Given the description of an element on the screen output the (x, y) to click on. 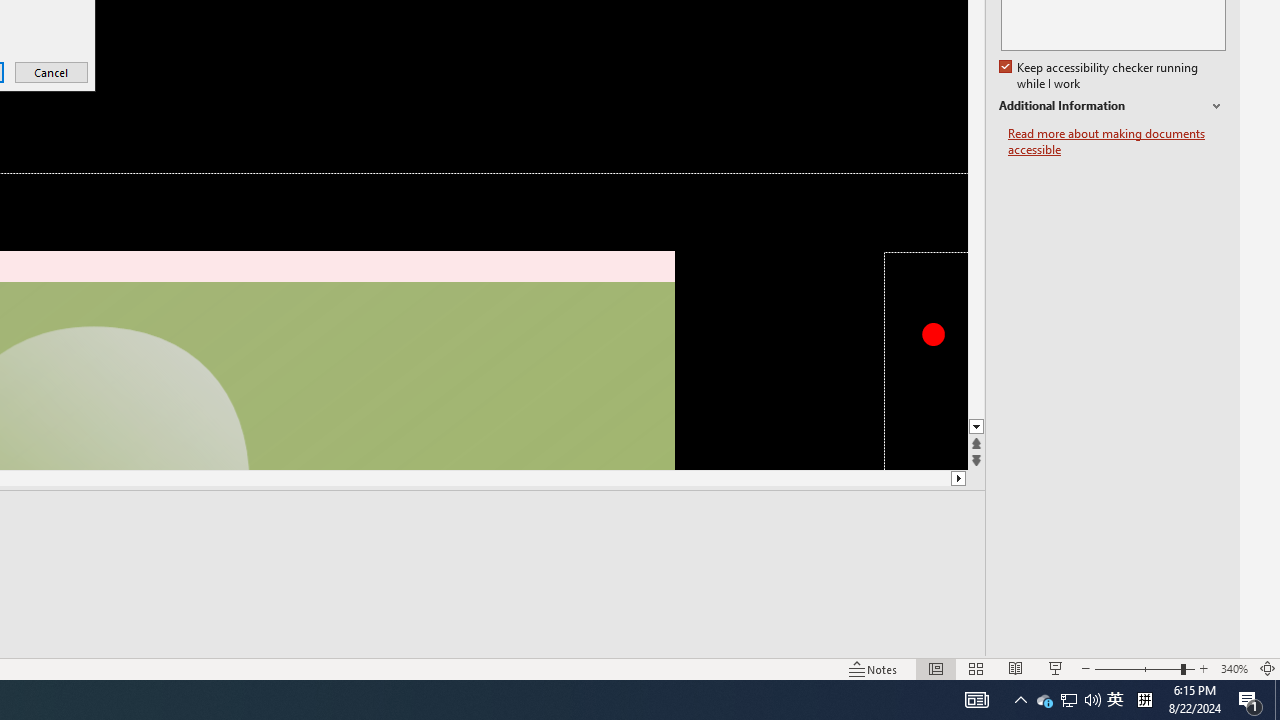
Notification Chevron (1044, 699)
Additional Information (1020, 699)
Read more about making documents accessible (1112, 106)
Zoom 340% (1069, 699)
AutomationID: 4105 (1117, 142)
